Given the description of an element on the screen output the (x, y) to click on. 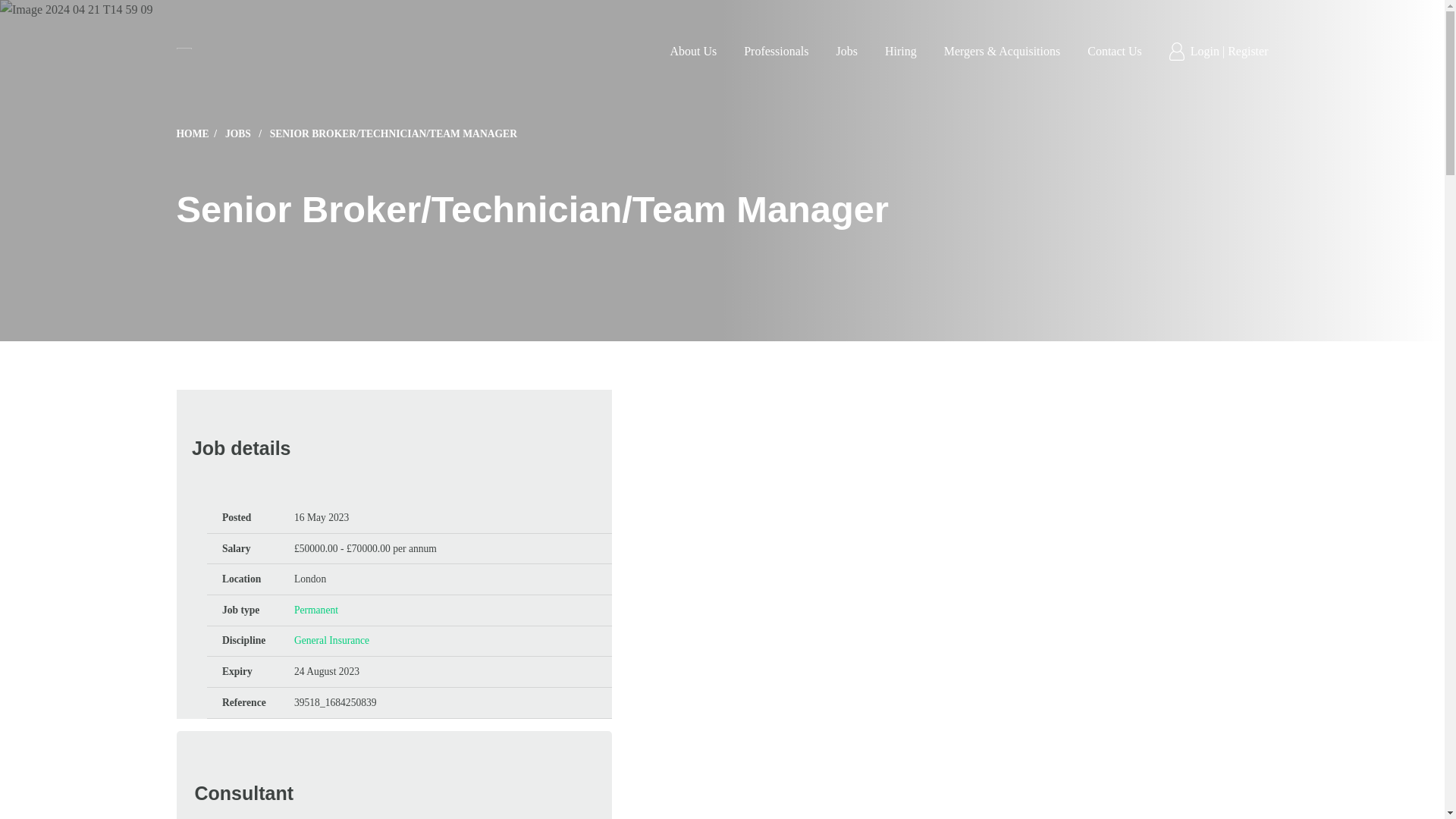
Register (1247, 51)
Login (1207, 51)
JOBS (245, 133)
Idex (183, 51)
General Insurance (331, 640)
Permanent (315, 610)
HOME (198, 133)
Jobs (846, 51)
Professionals (776, 51)
About Us (692, 51)
Contact Us (1114, 51)
Hiring (901, 51)
